Given the description of an element on the screen output the (x, y) to click on. 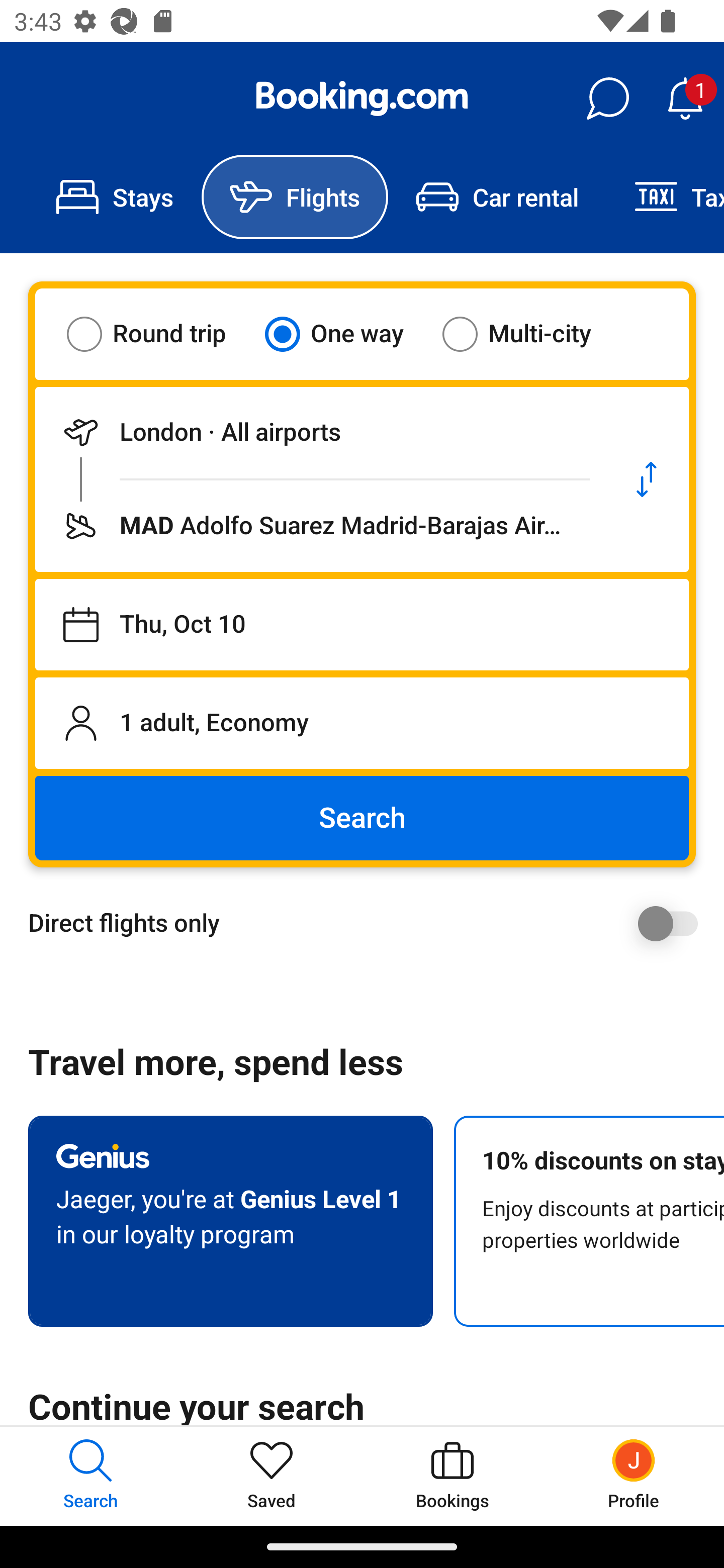
Messages (607, 98)
Notifications (685, 98)
Stays (114, 197)
Flights (294, 197)
Car rental (497, 197)
Taxi (665, 197)
Round trip (158, 333)
Multi-city (528, 333)
Departing from London · All airports (319, 432)
Swap departure location and destination (646, 479)
Flying to MAD Adolfo Suarez Madrid-Barajas Airport (319, 525)
Departing on Thu, Oct 10 (361, 624)
1 adult, Economy (361, 722)
Search (361, 818)
Direct flights only (369, 923)
Saved (271, 1475)
Bookings (452, 1475)
Profile (633, 1475)
